Given the description of an element on the screen output the (x, y) to click on. 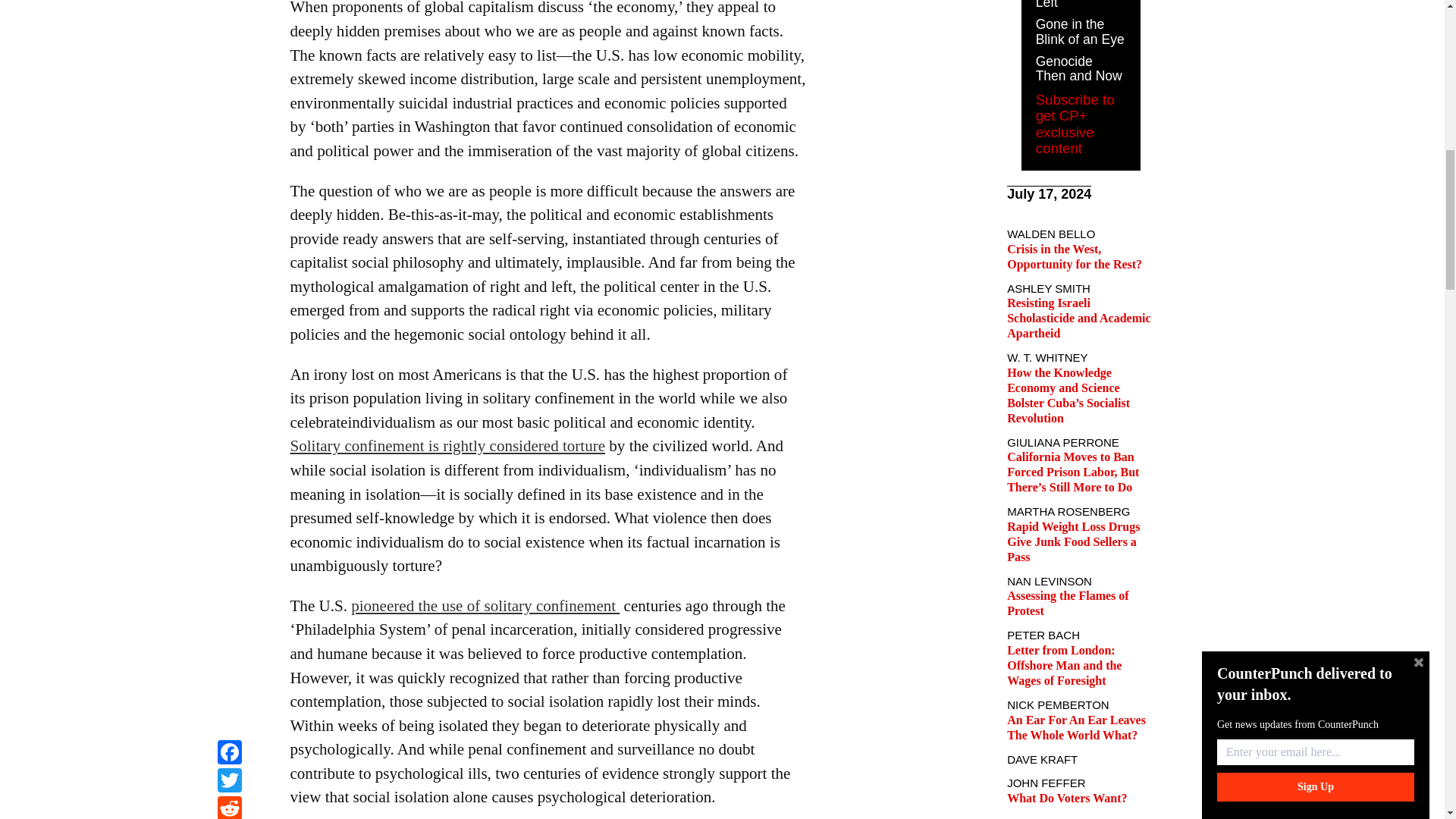
Gone in the Blink of an Eye (1079, 31)
pioneered the use of solitary confinement (485, 606)
Email (229, 18)
The Molting of the Dirtbag Left (1077, 4)
Reddit (229, 2)
Email (229, 18)
Solitary confinement is rightly considered torture (447, 445)
Reddit (229, 2)
